Given the description of an element on the screen output the (x, y) to click on. 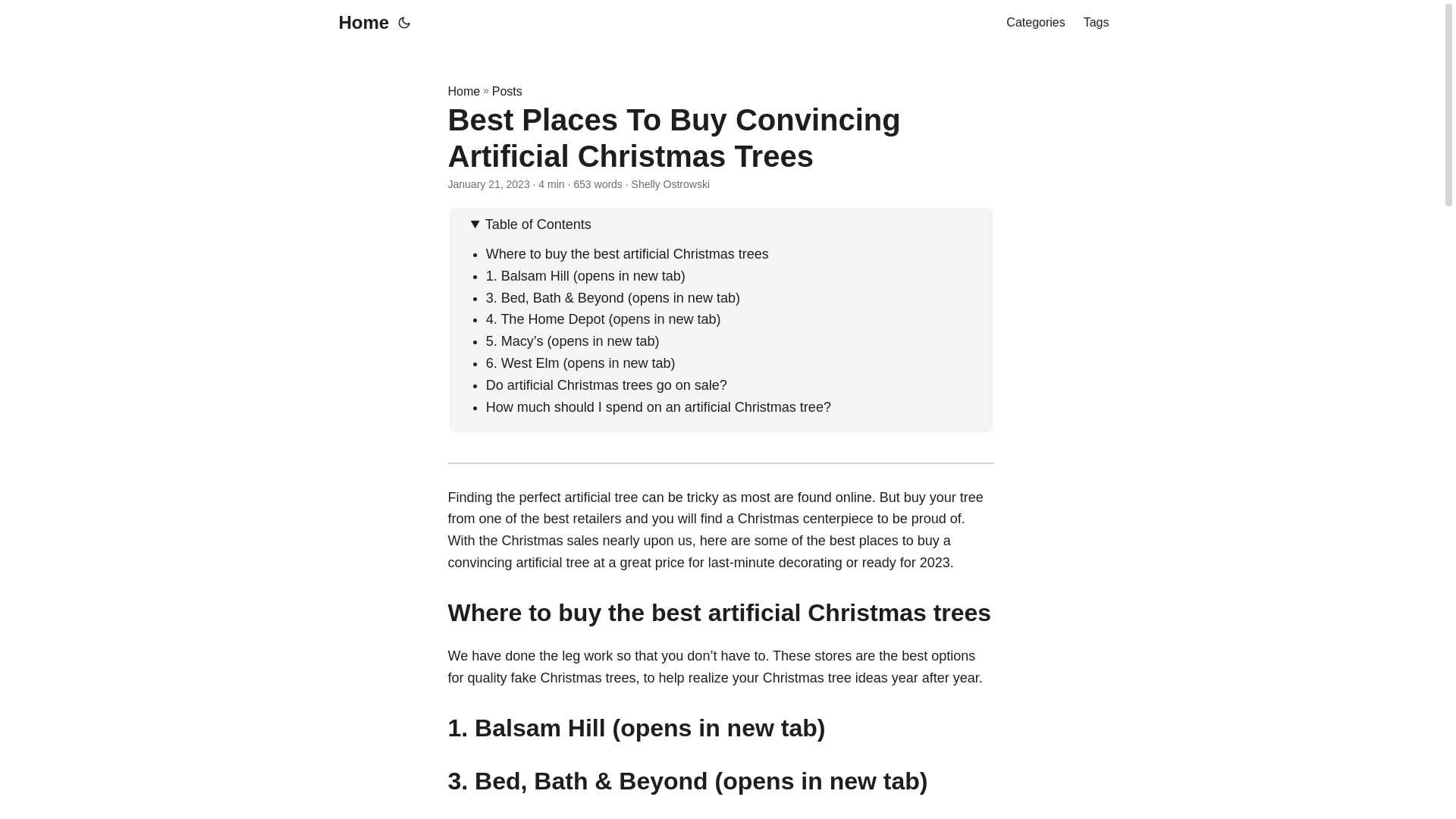
Home (359, 22)
Categories (1035, 22)
Categories (1035, 22)
Posts (507, 91)
How much should I spend on an artificial Christmas tree? (658, 406)
Where to buy the best artificial Christmas trees (627, 253)
Home (463, 91)
Do artificial Christmas trees go on sale?  (608, 385)
